Given the description of an element on the screen output the (x, y) to click on. 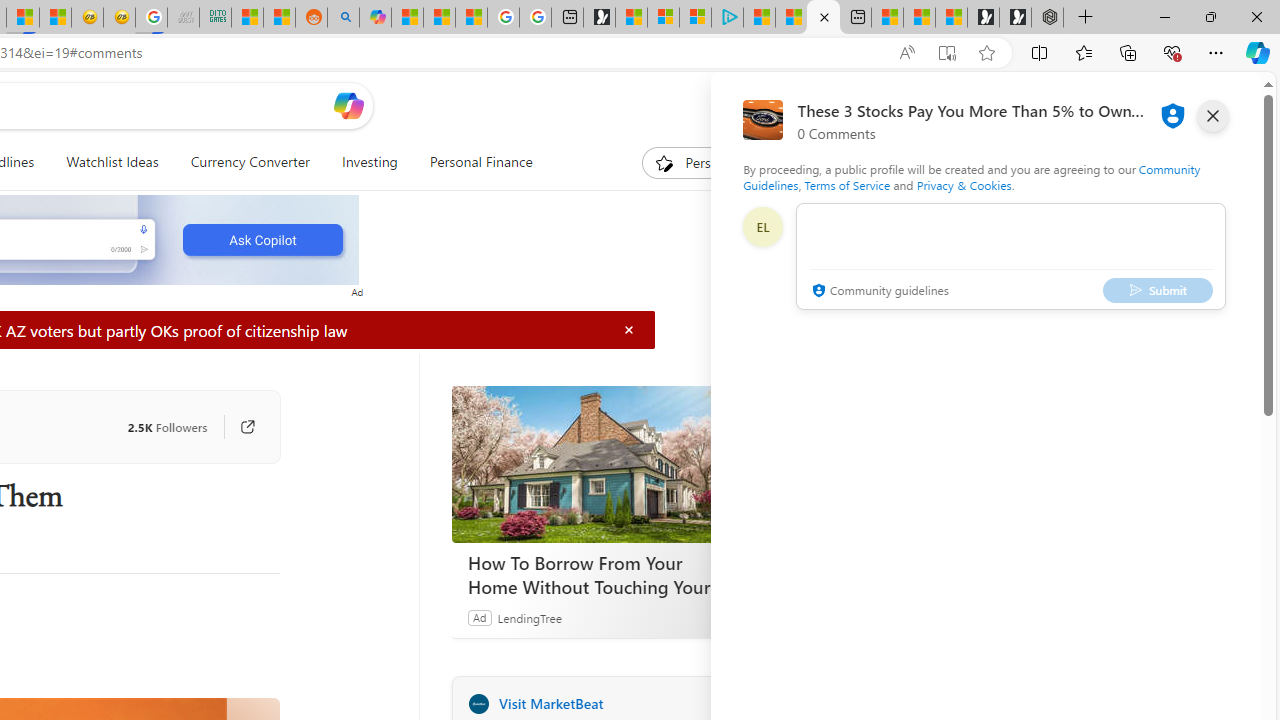
Personalize (703, 162)
comment-box (1011, 256)
DITOGAMES AG Imprint (215, 17)
Community guidelines (878, 291)
Personal Finance (472, 162)
Utah sues federal government - Search (343, 17)
These 3 Stocks Pay You More Than 5% to Own Them (822, 17)
Investing (369, 162)
